Given the description of an element on the screen output the (x, y) to click on. 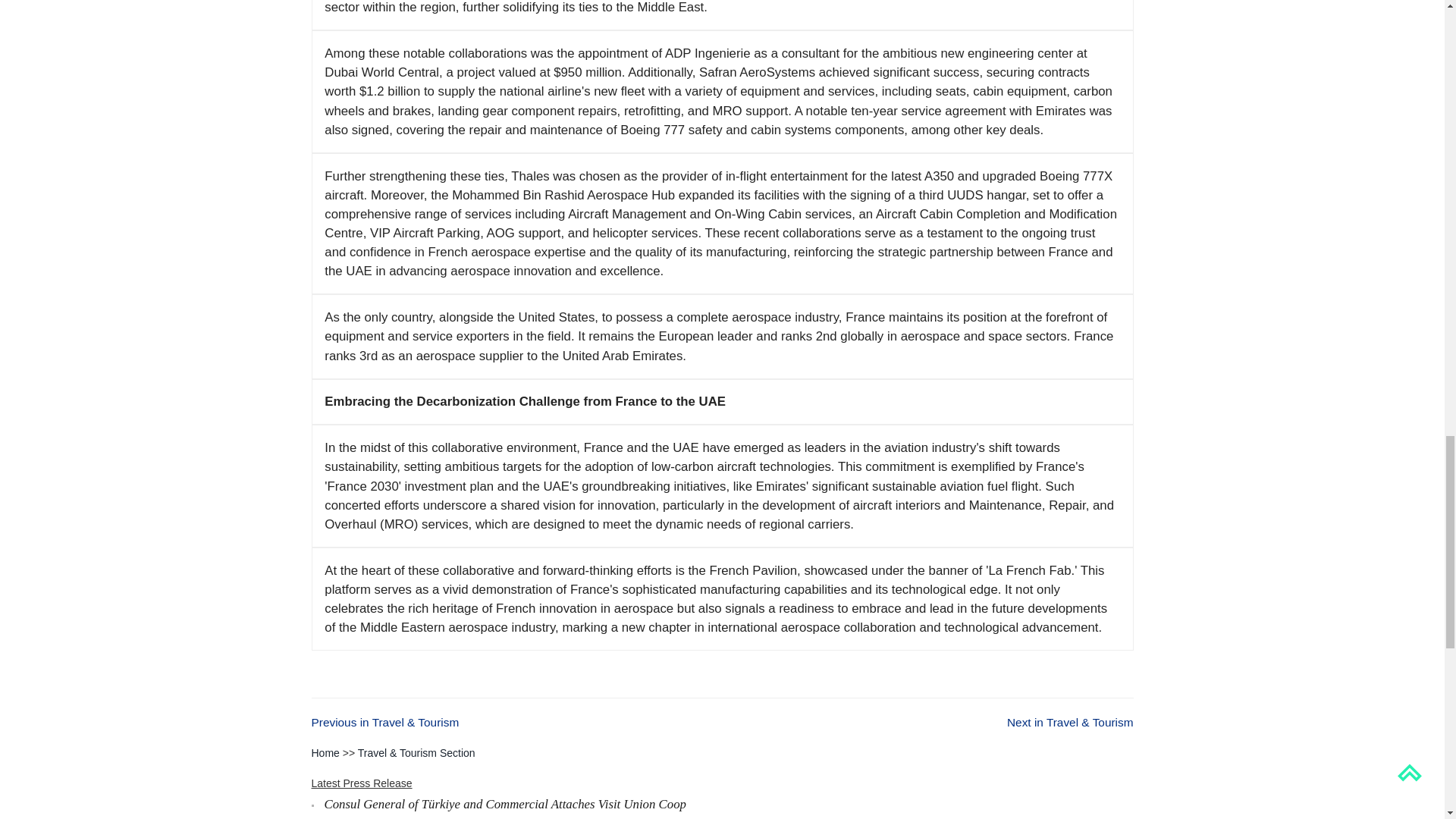
Home (325, 752)
